Given the description of an element on the screen output the (x, y) to click on. 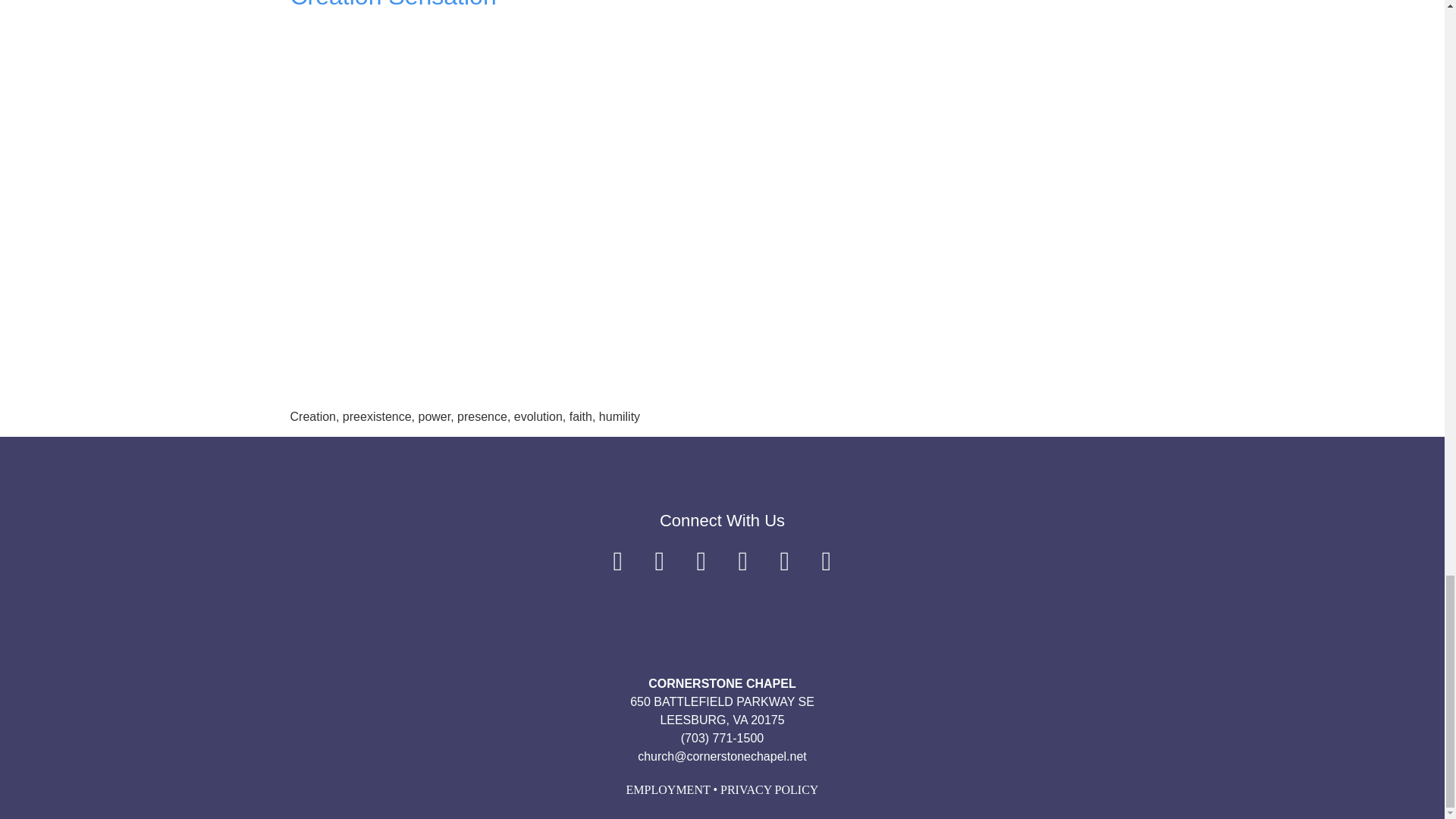
Creation Sensation (392, 4)
PRIVACY POLICY (769, 789)
EMPLOYMENT (668, 789)
